Given the description of an element on the screen output the (x, y) to click on. 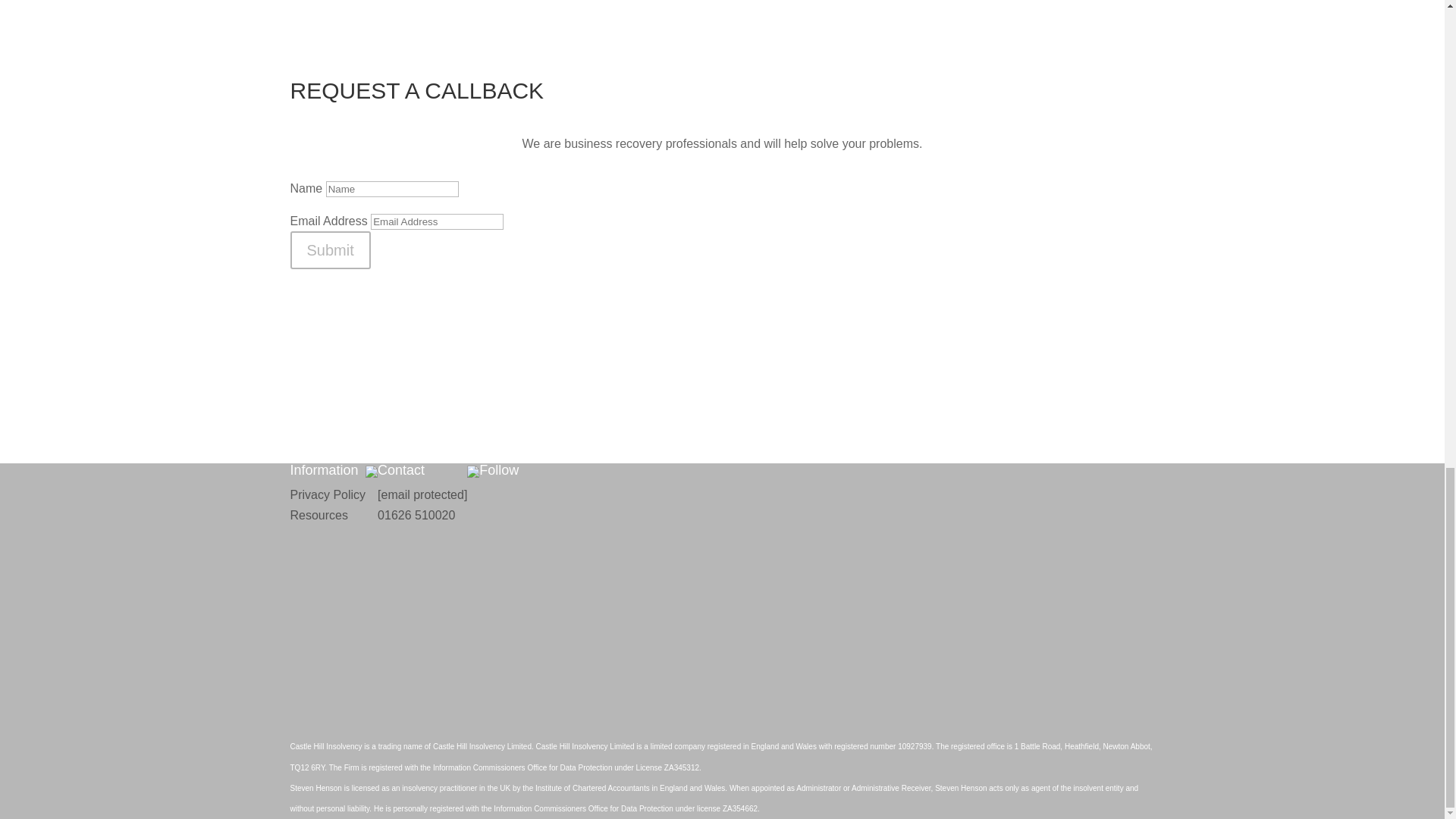
Twitter (592, 719)
Submit (329, 249)
LinkedIn (592, 541)
Resources (318, 514)
Twitter (592, 666)
LinkedIn (592, 594)
01626 510020 (415, 514)
Privacy Policy (327, 494)
